Given the description of an element on the screen output the (x, y) to click on. 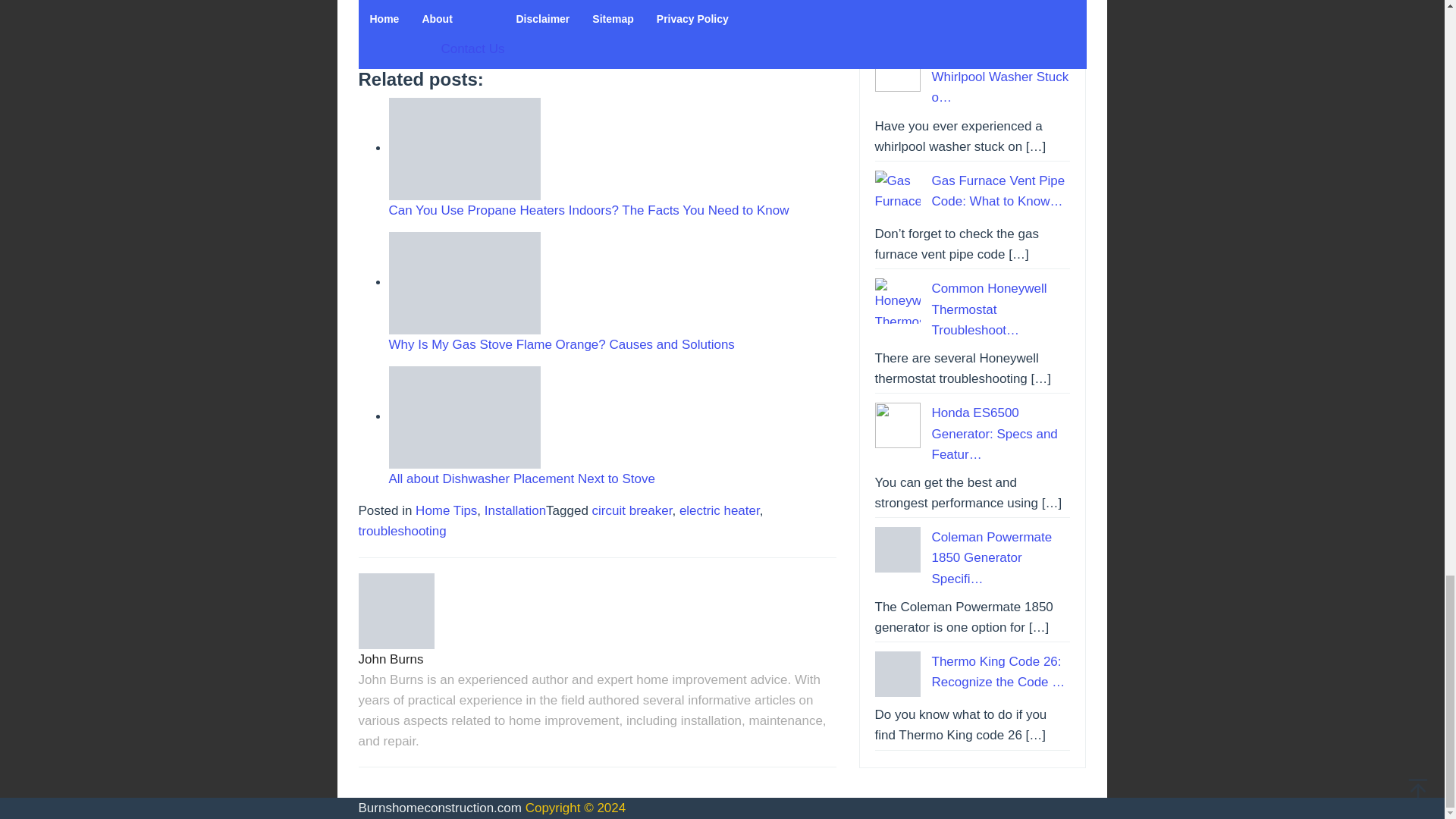
Permalink to: All about Dishwasher Placement Next to Stove (521, 478)
dishwasher next to stove (464, 417)
John Burns (390, 658)
Permalink to: All about Dishwasher Placement Next to Stove (464, 416)
Installation (515, 510)
circuit breaker (632, 510)
electric heater (719, 510)
troubleshooting (401, 531)
Home Tips (445, 510)
Gravatar (395, 611)
